Given the description of an element on the screen output the (x, y) to click on. 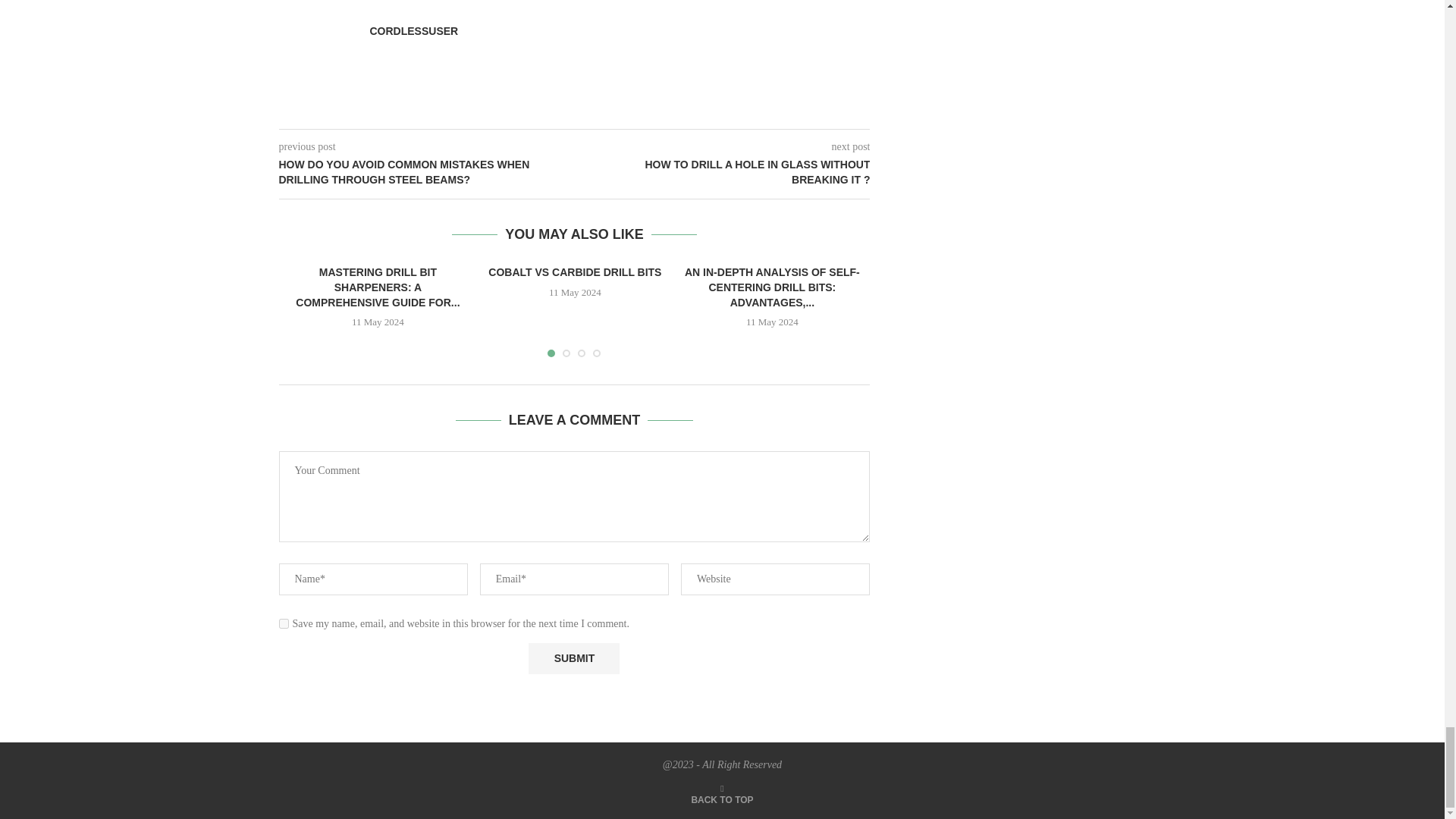
MASTERING DRILL BIT SHARPENERS: A COMPREHENSIVE GUIDE FOR... (377, 286)
COBALT VS CARBIDE DRILL BITS (574, 272)
Author cordlessuser (413, 30)
yes (283, 623)
HOW TO DRILL A HOLE IN GLASS WITHOUT BREAKING IT ? (722, 172)
Submit (574, 658)
CORDLESSUSER (413, 30)
